Given the description of an element on the screen output the (x, y) to click on. 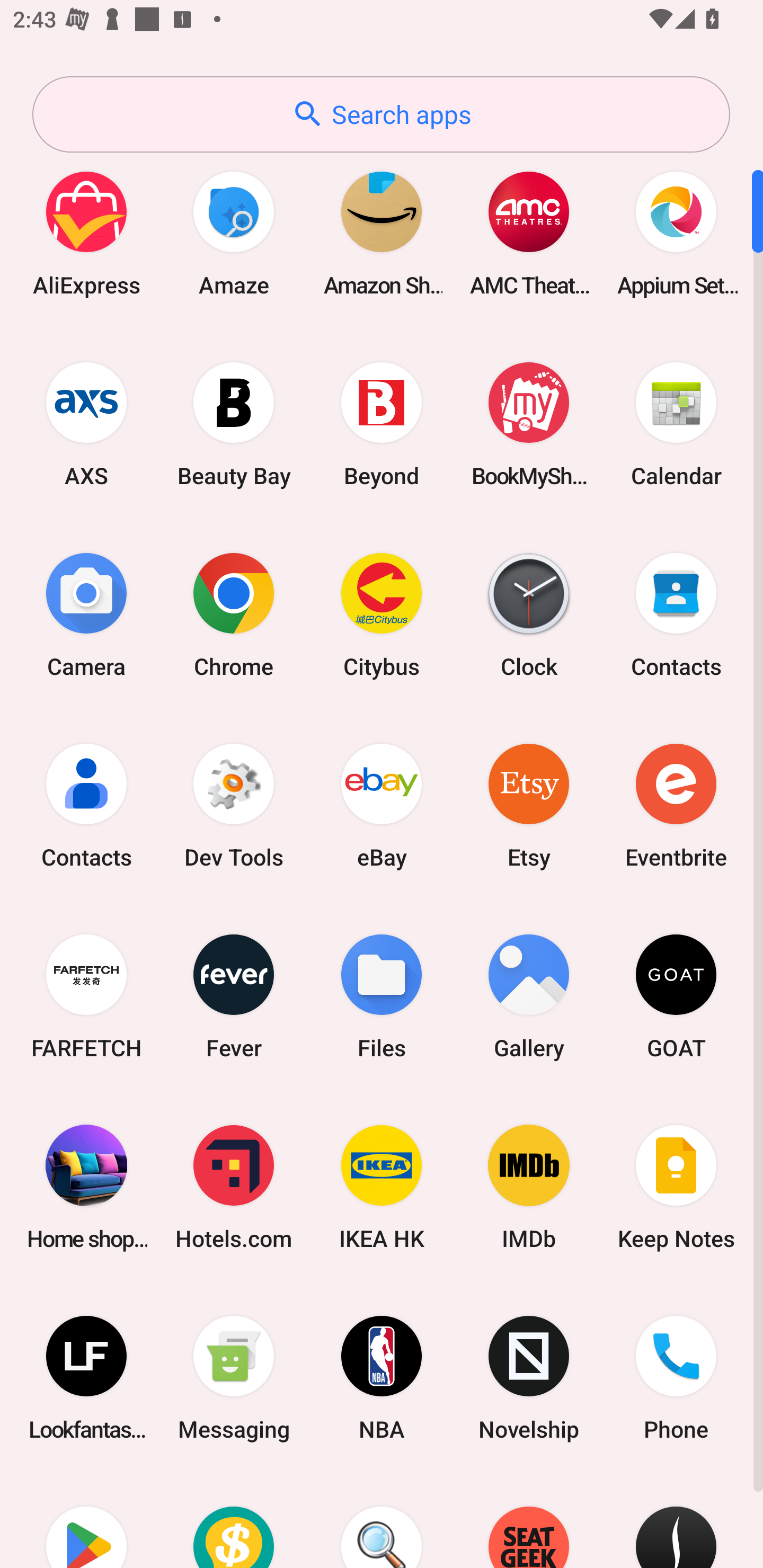
  Search apps (381, 114)
AliExpress (86, 233)
Amaze (233, 233)
Amazon Shopping (381, 233)
AMC Theatres (528, 233)
Appium Settings (676, 233)
AXS (86, 424)
Beauty Bay (233, 424)
Beyond (381, 424)
BookMyShow (528, 424)
Calendar (676, 424)
Camera (86, 614)
Chrome (233, 614)
Citybus (381, 614)
Clock (528, 614)
Contacts (676, 614)
Contacts (86, 805)
Dev Tools (233, 805)
eBay (381, 805)
Etsy (528, 805)
Eventbrite (676, 805)
FARFETCH (86, 996)
Fever (233, 996)
Files (381, 996)
Gallery (528, 996)
GOAT (676, 996)
Home shopping (86, 1186)
Hotels.com (233, 1186)
IKEA HK (381, 1186)
IMDb (528, 1186)
Keep Notes (676, 1186)
Lookfantastic (86, 1377)
Messaging (233, 1377)
NBA (381, 1377)
Novelship (528, 1377)
Phone (676, 1377)
Play Store (86, 1520)
Price (233, 1520)
Search (381, 1520)
SeatGeek (528, 1520)
Sephora (676, 1520)
